Given the description of an element on the screen output the (x, y) to click on. 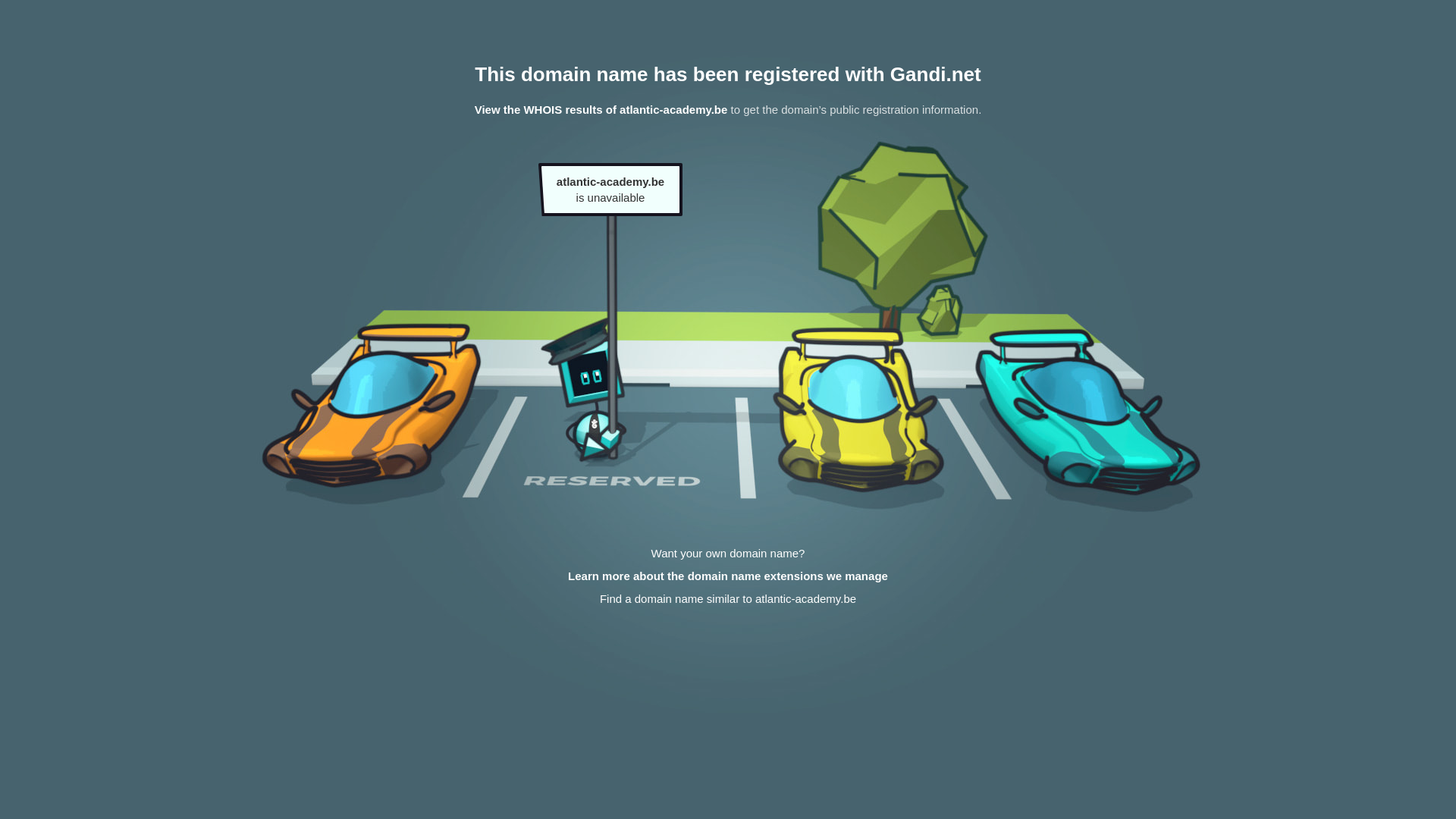
View the WHOIS results of atlantic-academy.be Element type: text (601, 109)
Find a domain name similar to atlantic-academy.be Element type: text (727, 598)
Learn more about the domain name extensions we manage Element type: text (727, 575)
